Given the description of an element on the screen output the (x, y) to click on. 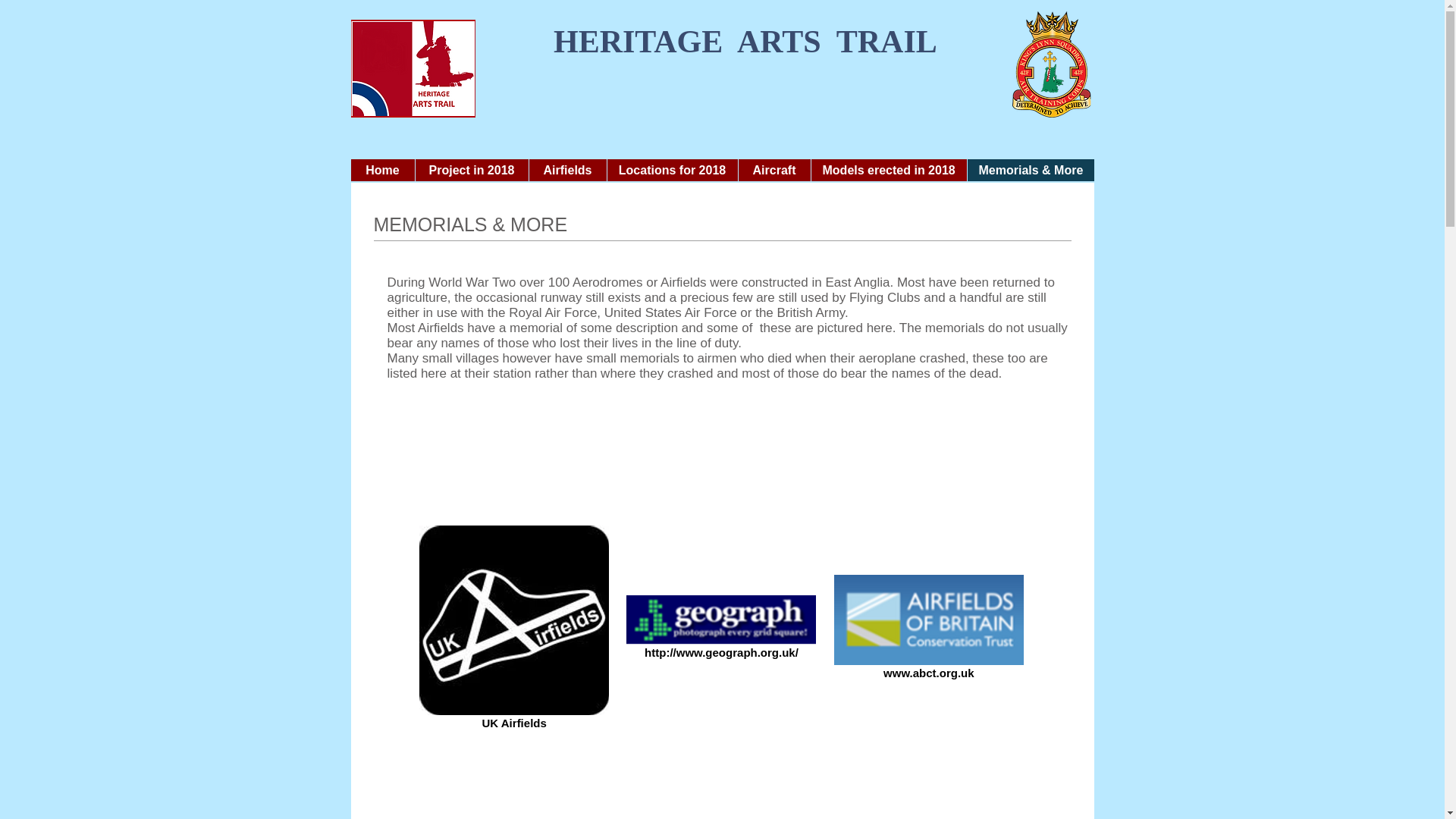
       HERITAGE  ARTS  TRAIL (716, 41)
Project in 2018 (470, 169)
Locations for 2018 (672, 169)
Airfields (566, 169)
Home (381, 169)
Aircraft (772, 169)
Models erected in 2018 (887, 169)
RAF 100 Heritage Arts Trail Logo - FINAL.JPG (412, 68)
